Given the description of an element on the screen output the (x, y) to click on. 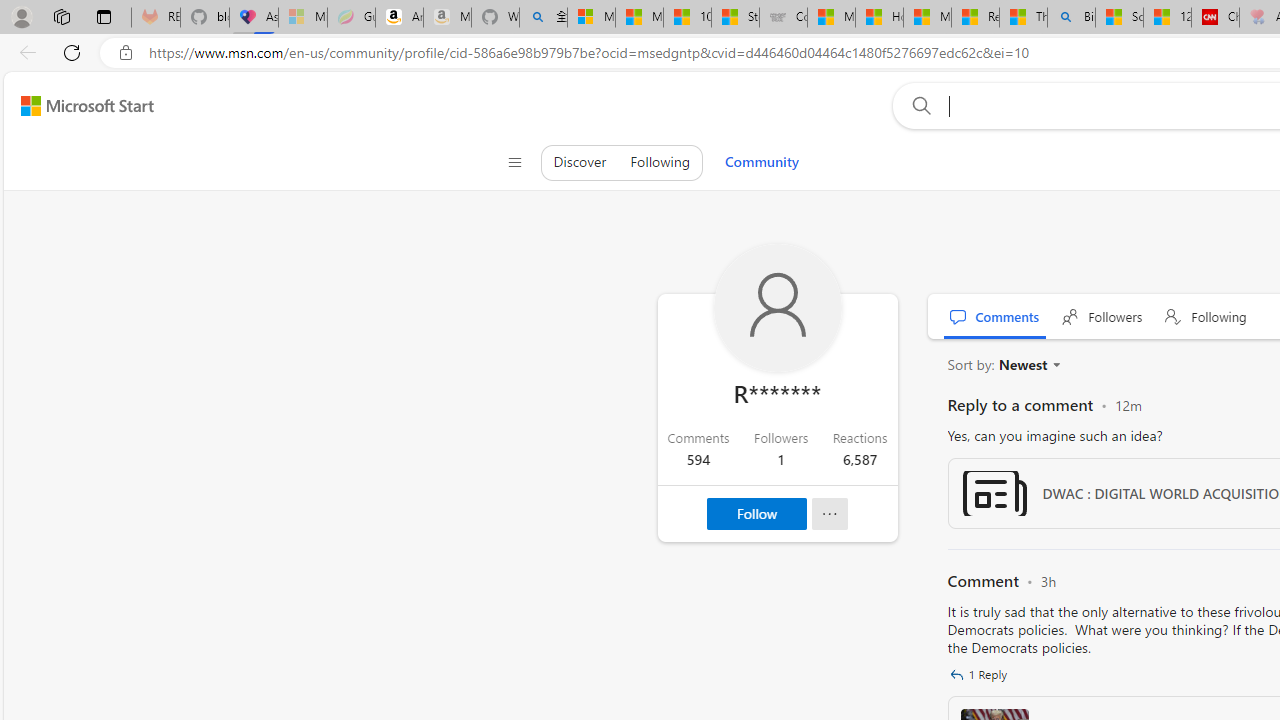
Content thumbnail (994, 493)
Community (761, 161)
 Following (1206, 316)
Community (761, 162)
1 Reply (980, 674)
